Given the description of an element on the screen output the (x, y) to click on. 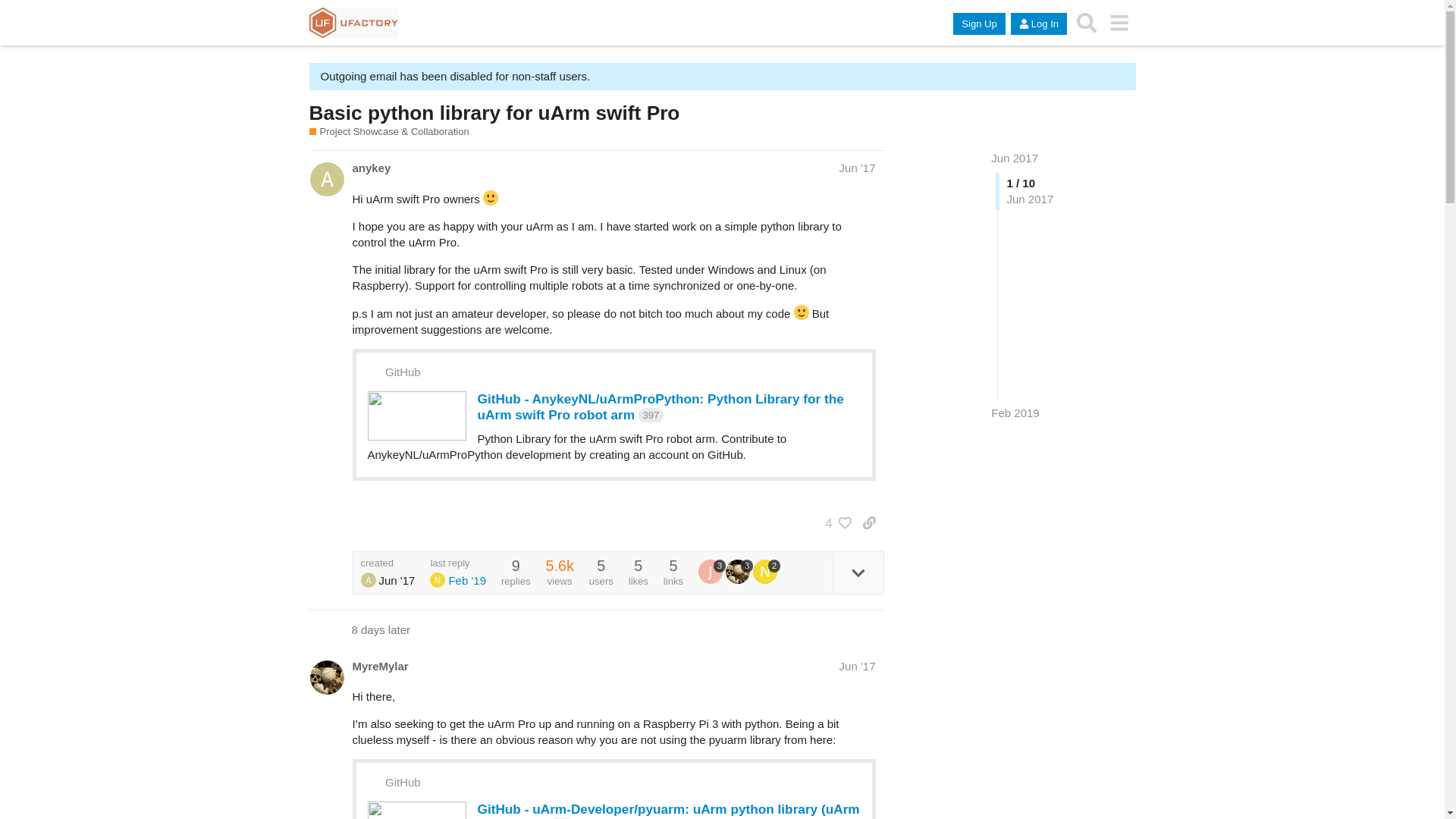
Jun 2017 Element type: text (1014, 157)
nadeem qazi Element type: hover (437, 579)
Feb 2019 Element type: text (1014, 412)
MyreMylar Element type: text (379, 666)
GitHub Element type: text (402, 782)
share a link to this post Element type: hover (869, 522)
last reply
Feb '19 Element type: text (457, 573)
Basic python library for uArm swift Pro Element type: text (494, 112)
menu Element type: hover (1119, 22)
Project Showcase & Collaboration Element type: text (389, 131)
Search Element type: hover (1086, 22)
GitHub Element type: text (402, 371)
Sign Up Element type: text (978, 23)
expand topic details Element type: hover (857, 572)
anykey Element type: text (370, 167)
Jun '17 Element type: text (857, 665)
:slight_smile: Element type: hover (801, 312)
Myre Mylar Element type: hover (737, 571)
4 Element type: text (834, 522)
nadeem qazi Element type: hover (765, 571)
richard Element type: hover (368, 579)
jetdillo Element type: hover (710, 571)
Log In Element type: text (1038, 23)
Jun '17 Element type: text (857, 167)
:slight_smile: Element type: hover (490, 197)
